Given the description of an element on the screen output the (x, y) to click on. 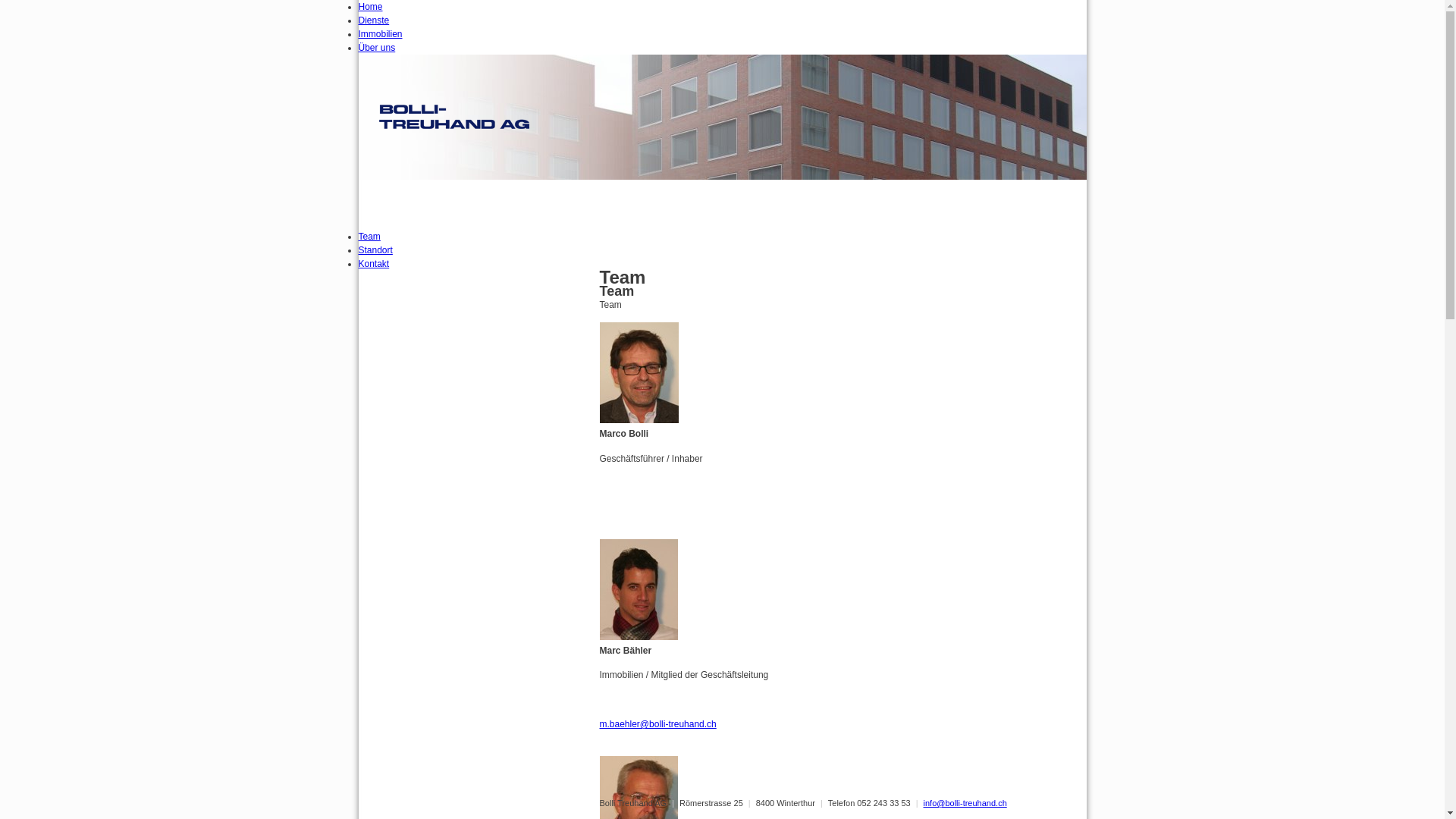
Home Element type: text (369, 6)
Kontakt Element type: text (373, 263)
Dienste Element type: text (373, 20)
m.baehler@bolli-treuhand.ch Element type: text (657, 723)
Immobilien Element type: text (379, 33)
info@bolli-treuhand.ch Element type: text (965, 802)
Standort Element type: text (374, 249)
Team Element type: text (368, 236)
